Given the description of an element on the screen output the (x, y) to click on. 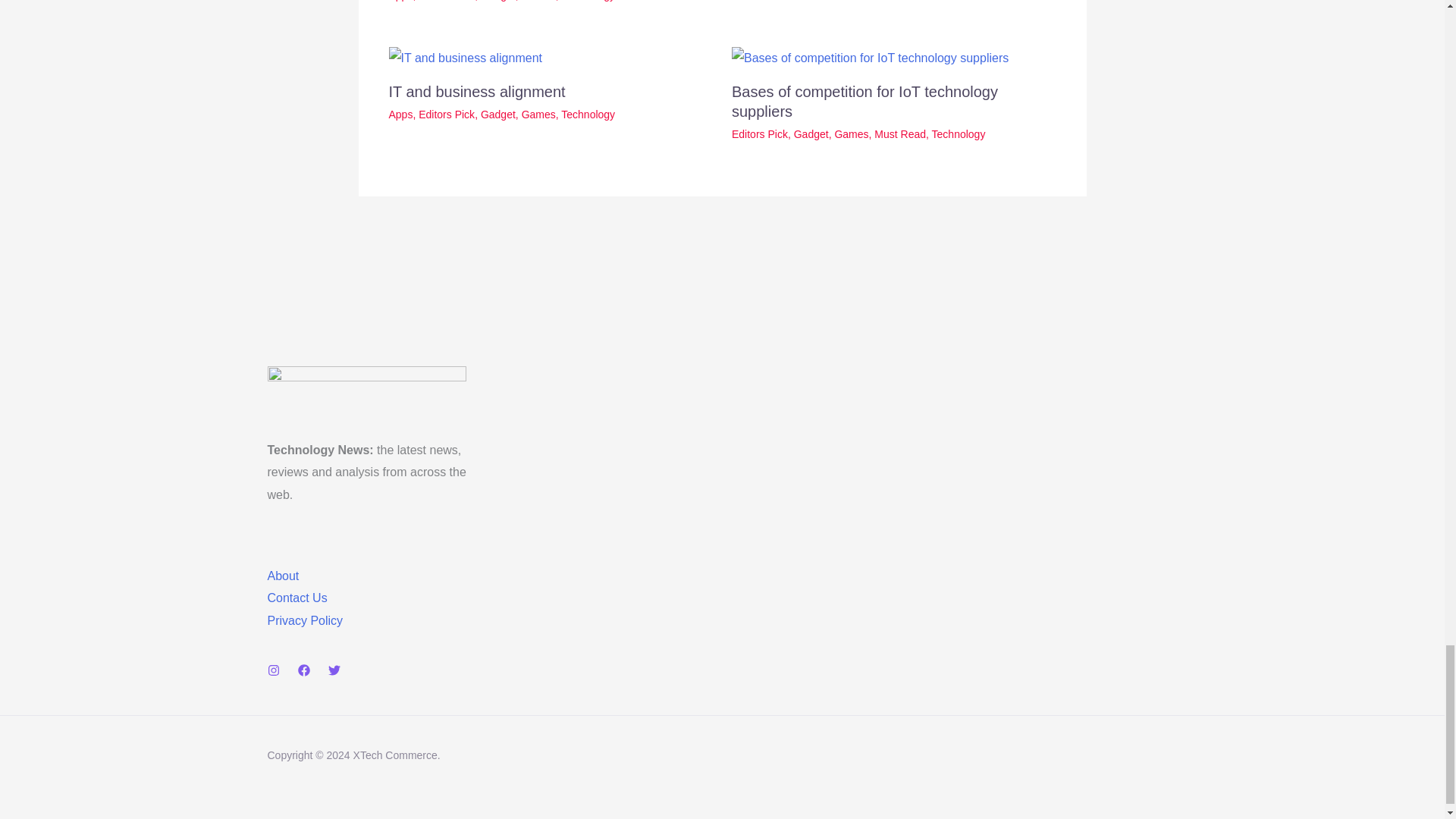
Editors Pick (446, 0)
Gadget (497, 114)
Games (538, 0)
Apps (400, 114)
Editors Pick (446, 114)
Apps (400, 0)
IT and business alignment (476, 91)
Gadget (497, 0)
Technology (587, 0)
